Given the description of an element on the screen output the (x, y) to click on. 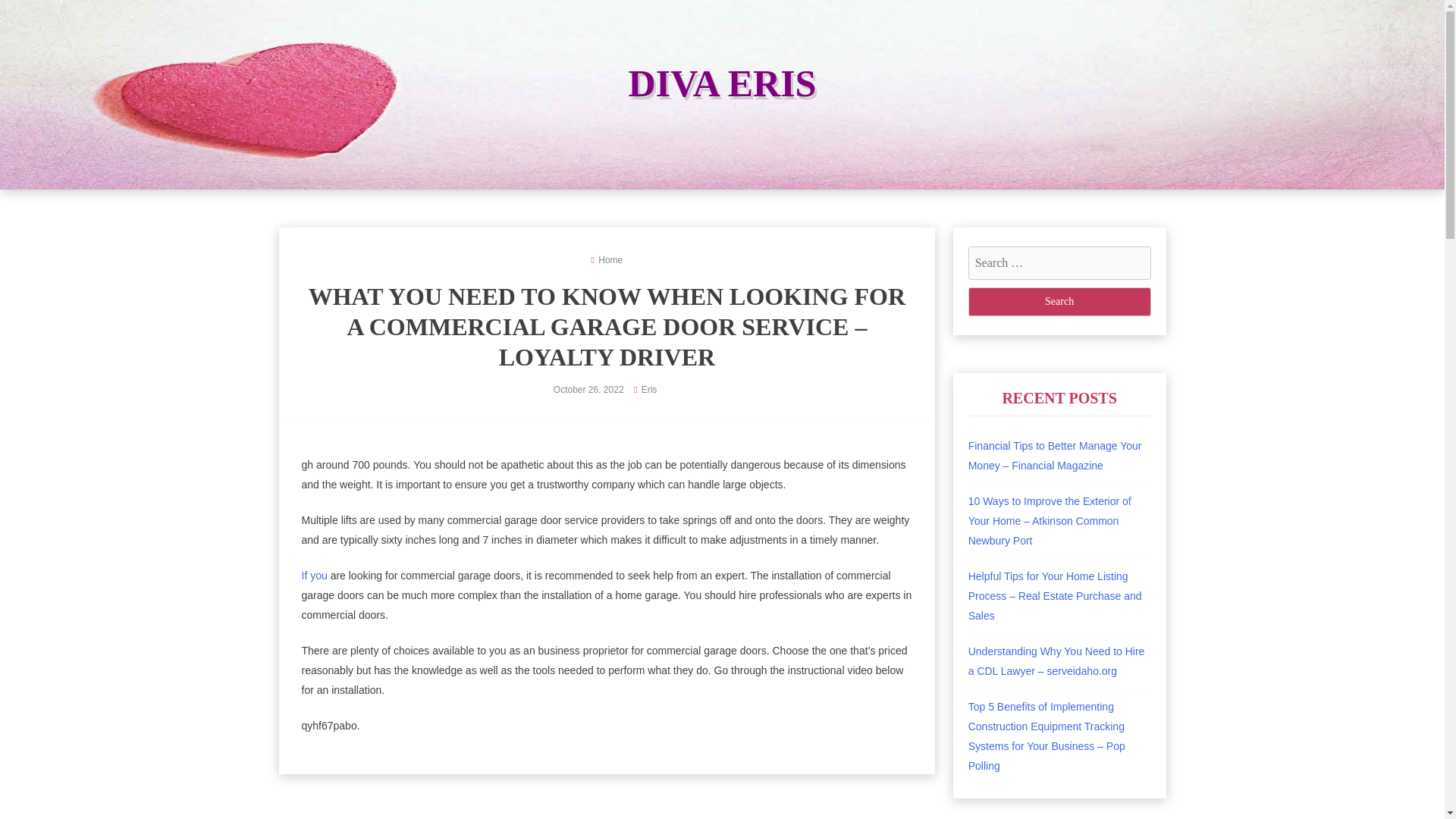
Home (610, 259)
October 26, 2022 (588, 389)
DIVA ERIS (722, 83)
Search (1059, 301)
Search (1059, 301)
If you (314, 575)
Eris (650, 389)
Search (1059, 301)
